Given the description of an element on the screen output the (x, y) to click on. 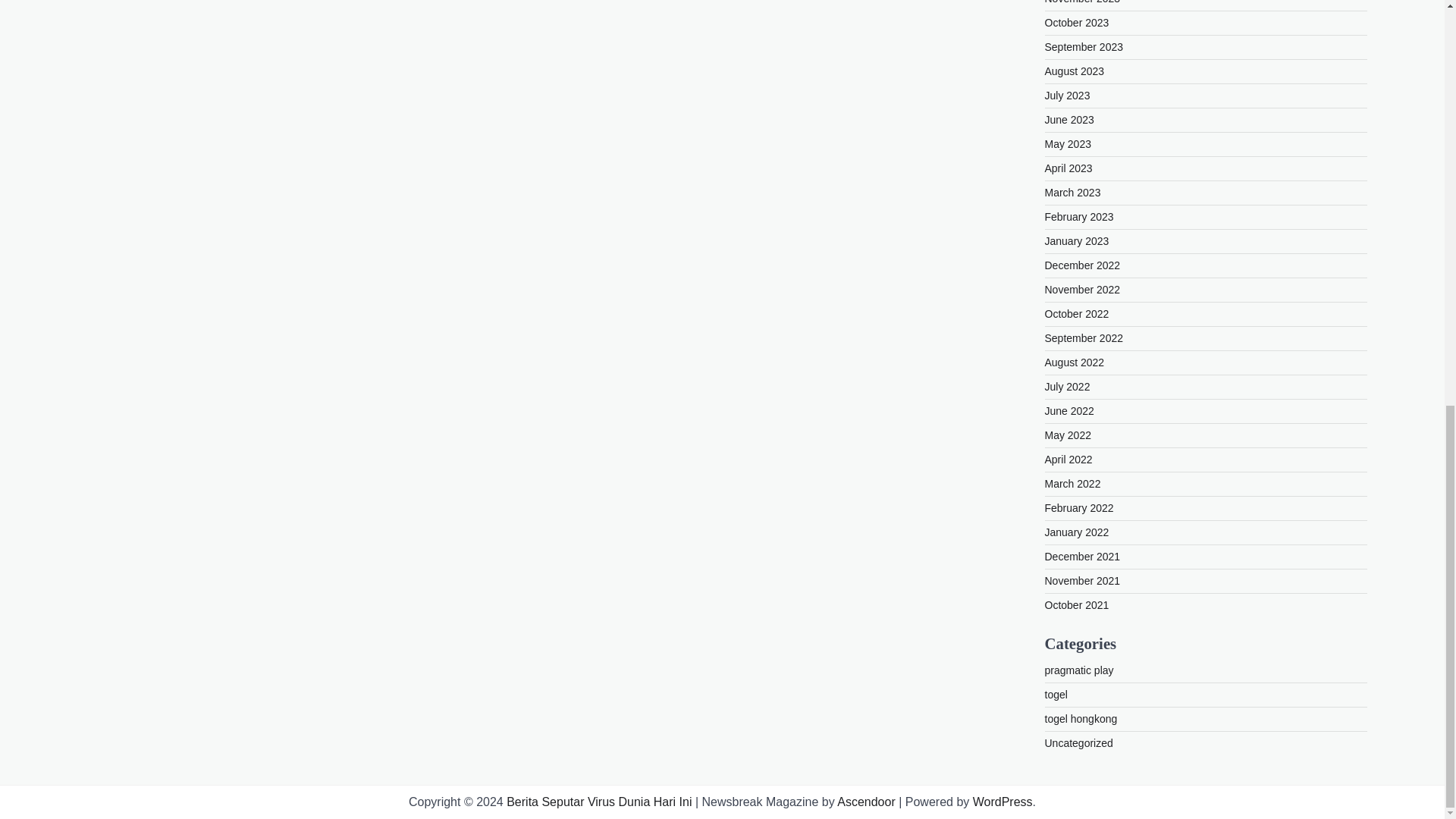
June 2023 (1069, 119)
August 2023 (1075, 70)
September 2023 (1084, 46)
October 2023 (1077, 22)
November 2023 (1083, 2)
July 2023 (1067, 95)
